Given the description of an element on the screen output the (x, y) to click on. 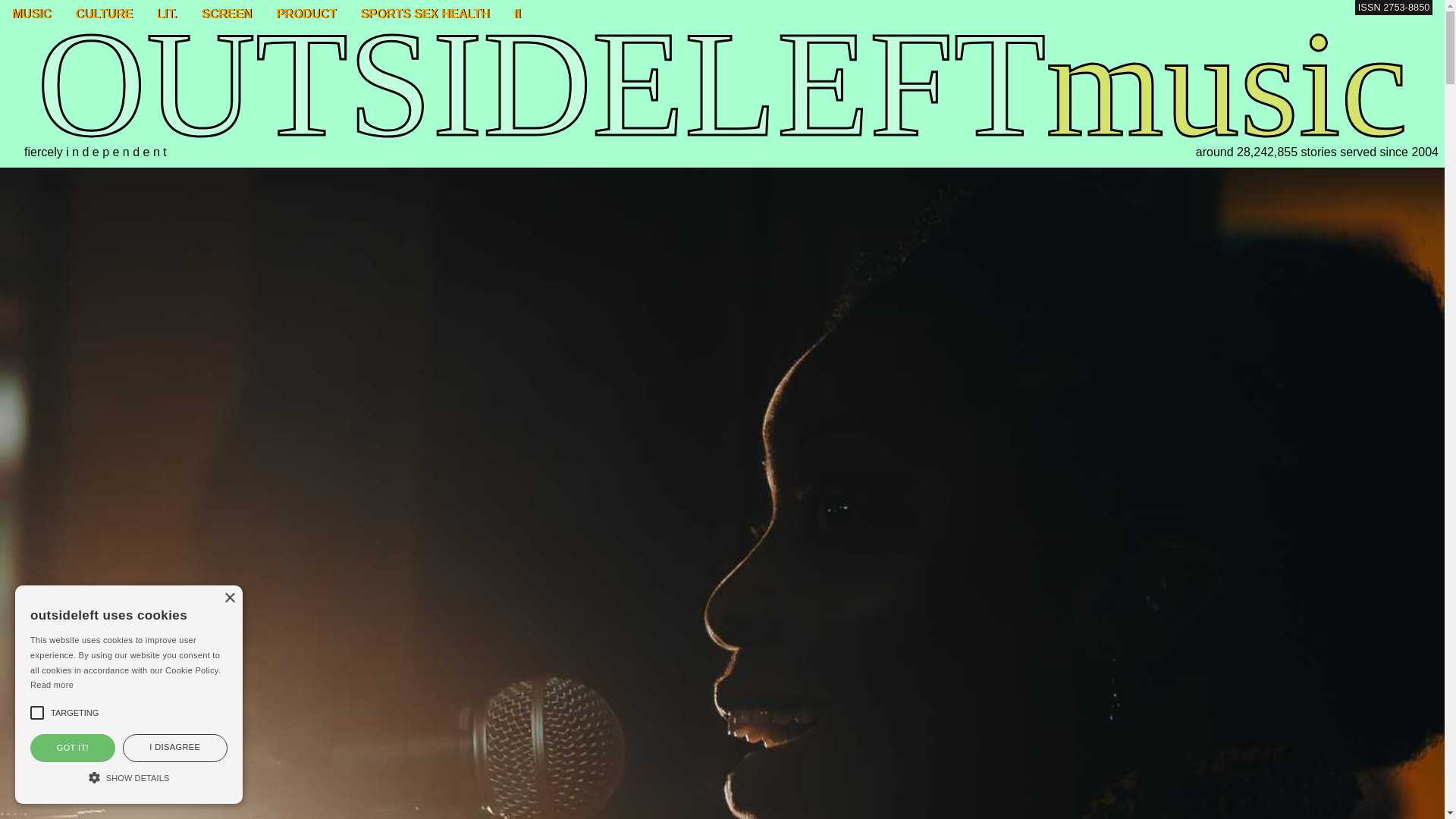
PRODUCT (305, 14)
SPORTS SEX HEALTH (423, 14)
LIT. (166, 14)
MUSIC (32, 14)
SCREEN (226, 14)
CULTURE (104, 14)
